Given the description of an element on the screen output the (x, y) to click on. 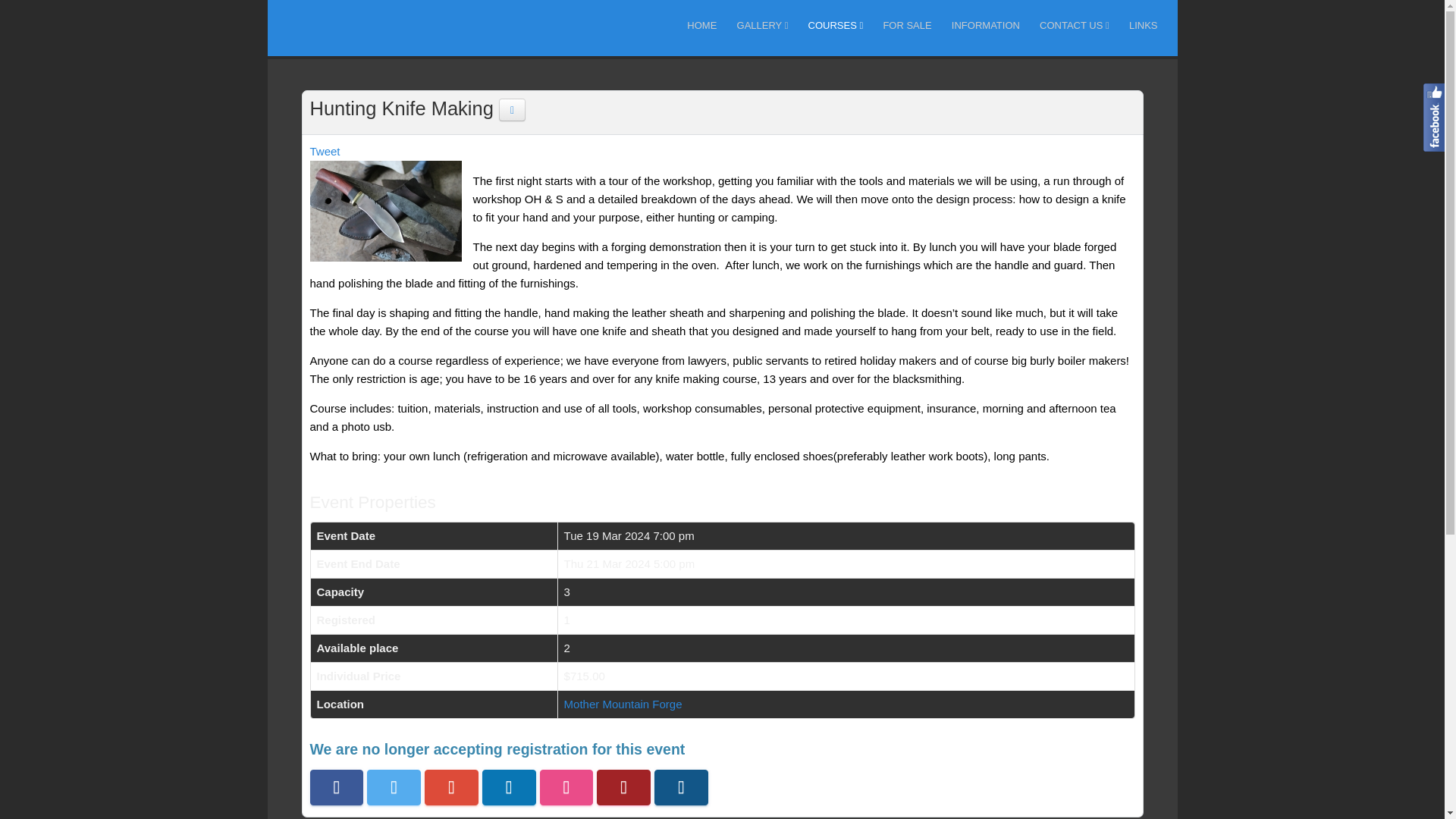
Submit Hunting Knife Making    in Pinterest (680, 787)
Submit Hunting Knife Making    in Delicious (567, 787)
COURSES (835, 24)
FOR SALE (907, 24)
Submit Hunting Knife Making    in Twitter (393, 787)
LINKS (1143, 24)
Tweet (323, 151)
Mother Mountain Forge (623, 703)
GALLERY (762, 24)
INFORMATION (985, 24)
CONTACT US (1074, 24)
Submit Hunting Knife Making    in FaceBook (335, 787)
Submit Hunting Knife Making    in Digg (623, 787)
Submit Hunting Knife Making    in LinkedIn (508, 787)
Mother Mountain Forge (623, 703)
